Given the description of an element on the screen output the (x, y) to click on. 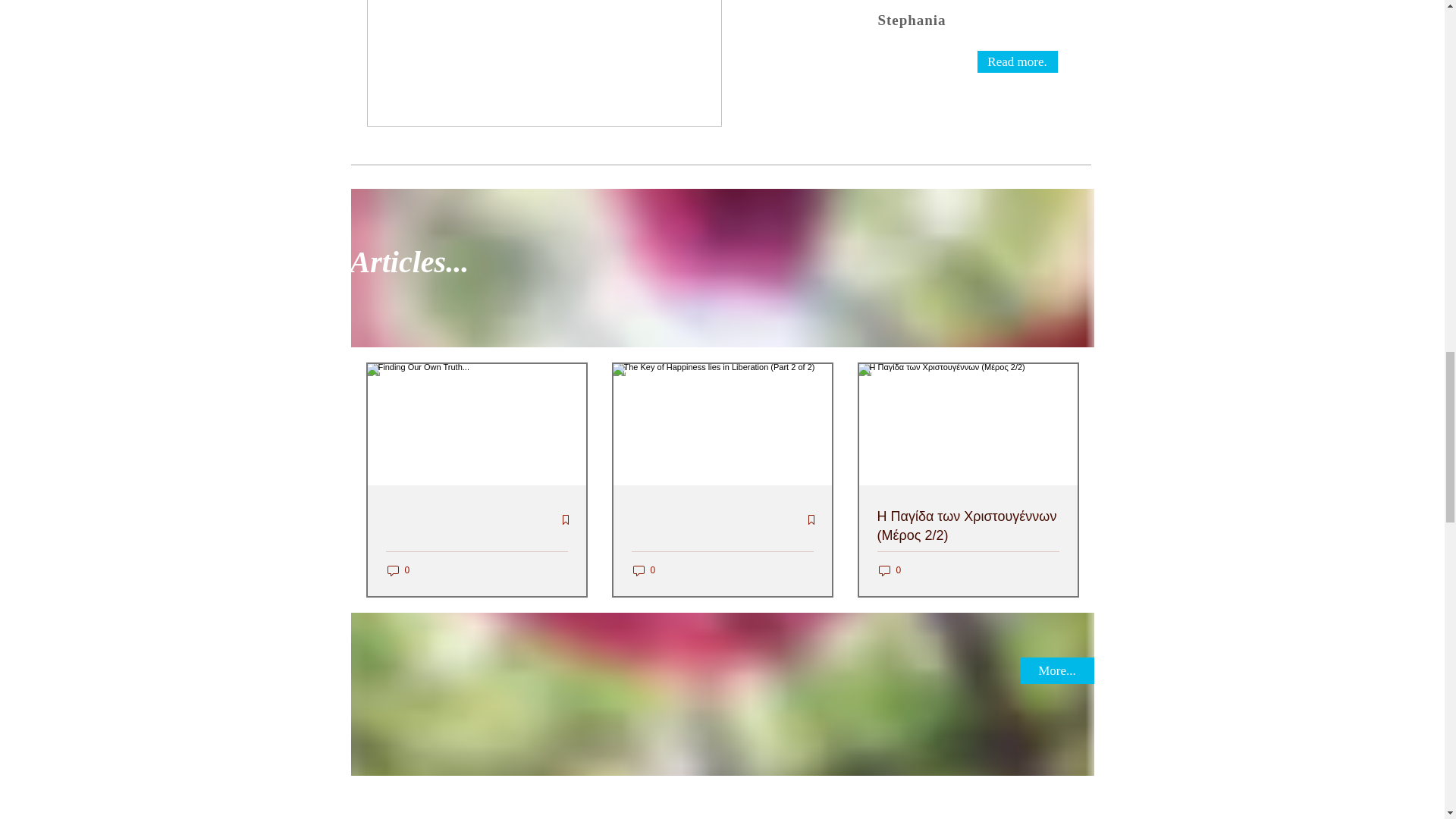
0 (643, 570)
0 (397, 570)
Read more. (1016, 61)
More... (1057, 670)
Finding Our Own Truth... (476, 551)
0 (889, 570)
